Given the description of an element on the screen output the (x, y) to click on. 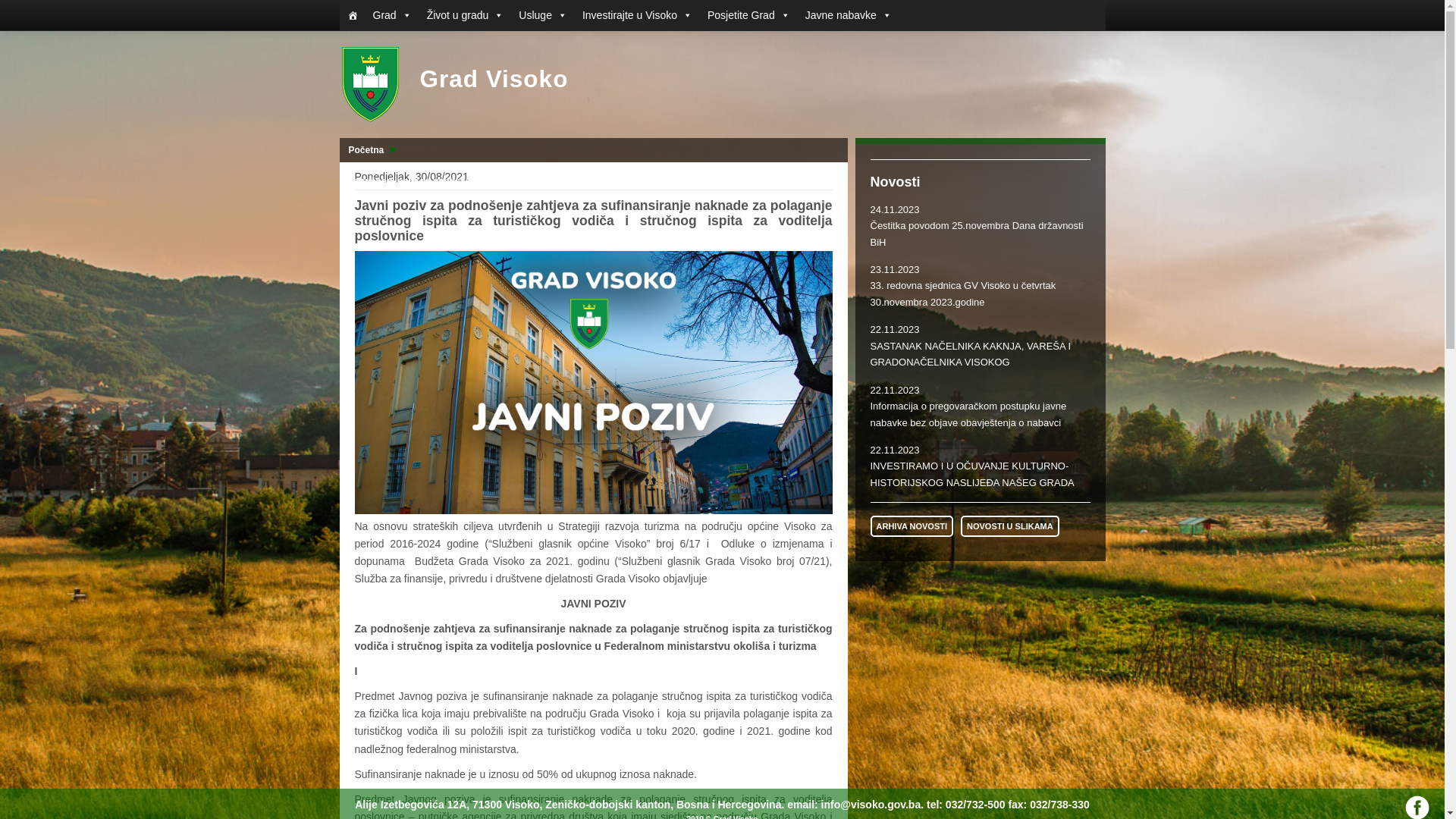
Investirajte u Visoko Element type: text (636, 15)
NOVOSTI U SLIKAMA Element type: text (1009, 525)
info@visoko.gov.ba. Element type: text (872, 804)
Grad Visoko Element type: text (453, 83)
Usluge Element type: text (542, 15)
Posjetite Grad Element type: text (748, 15)
Javne nabavke Element type: text (848, 15)
ARHIVA NOVOSTI Element type: text (911, 525)
Grad Element type: text (392, 15)
